Given the description of an element on the screen output the (x, y) to click on. 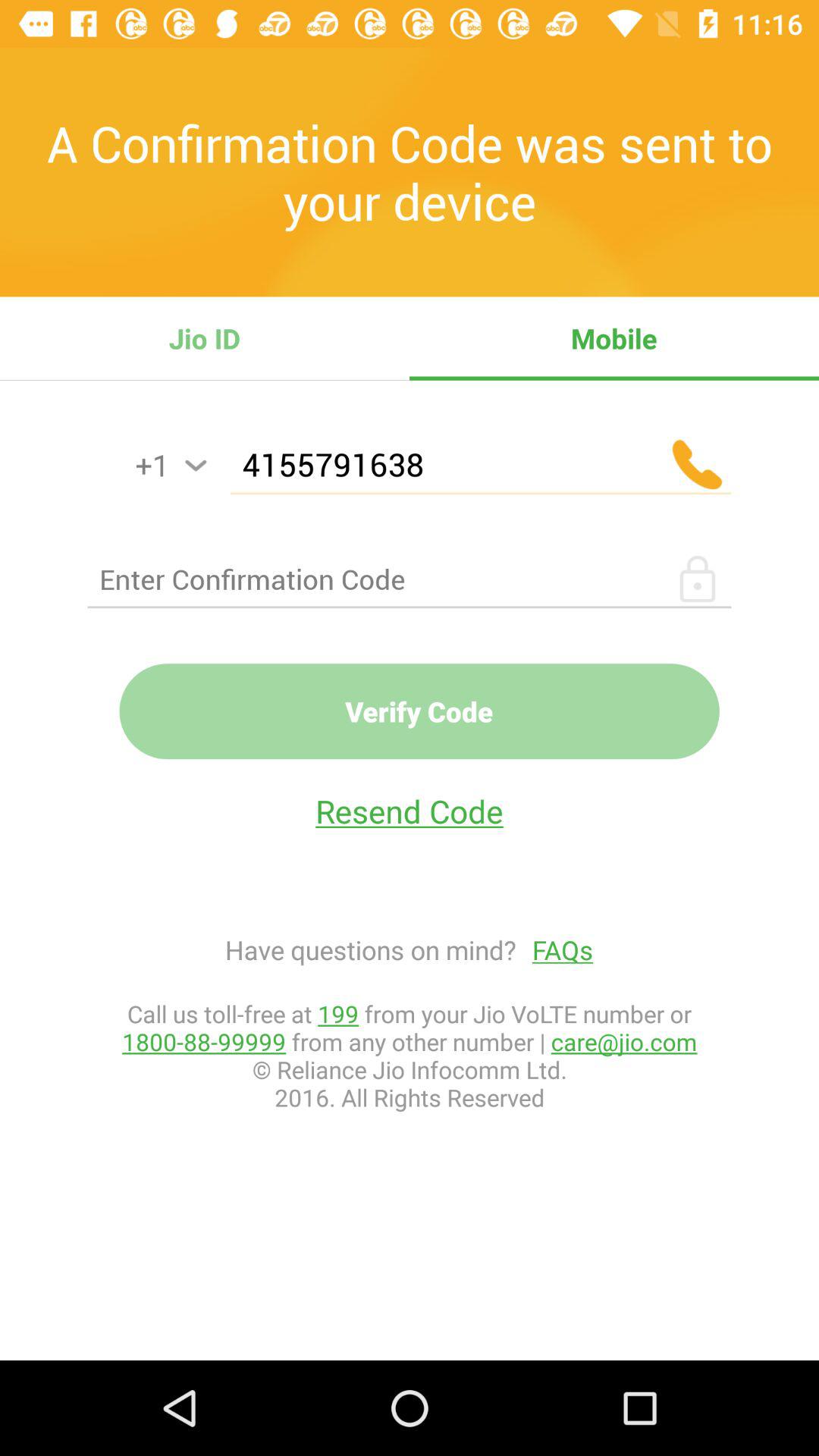
select icon above verify code item (409, 578)
